Given the description of an element on the screen output the (x, y) to click on. 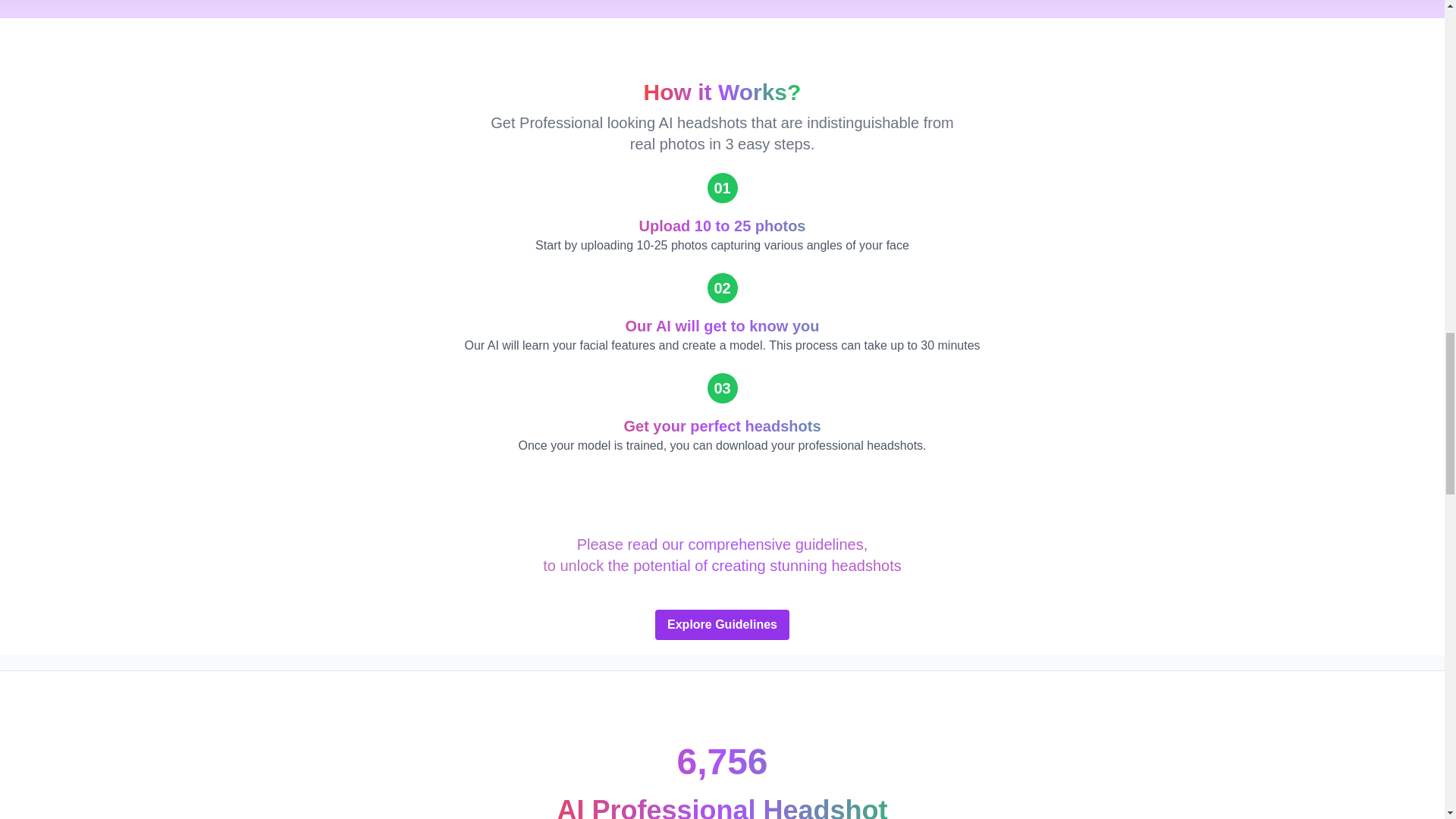
Explore Guidelines (722, 624)
